Given the description of an element on the screen output the (x, y) to click on. 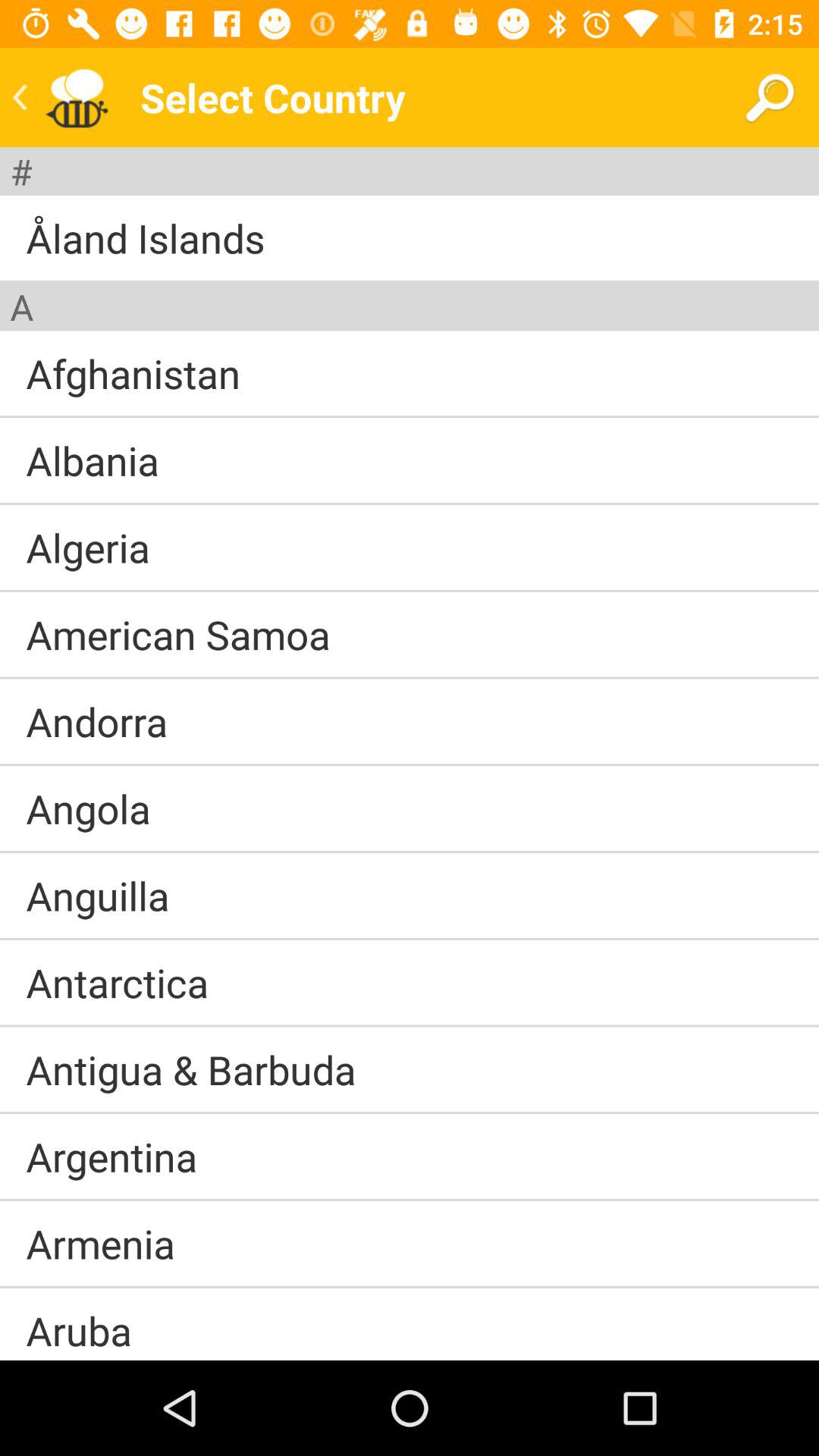
select the argentina (111, 1156)
